Given the description of an element on the screen output the (x, y) to click on. 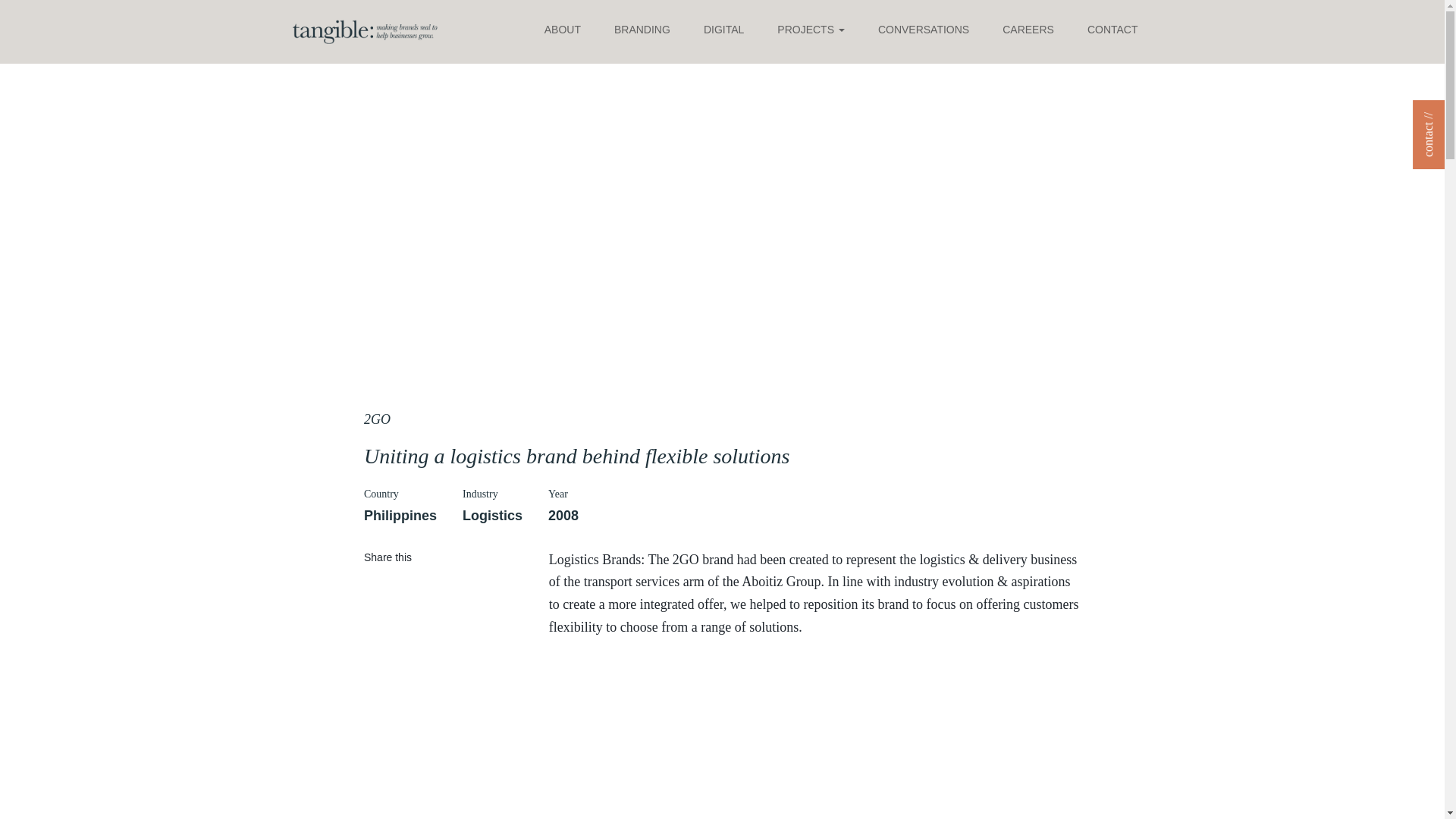
Contact (1112, 30)
Digital (723, 30)
BRANDING (641, 30)
Projects (810, 30)
About (562, 30)
CONVERSATIONS (923, 30)
ABOUT (562, 30)
CONTACT (1112, 30)
DIGITAL (723, 30)
Branding (641, 30)
Logistics (492, 515)
Careers (1028, 30)
Conversations (923, 30)
CAREERS (1028, 30)
Philippines (400, 515)
